Given the description of an element on the screen output the (x, y) to click on. 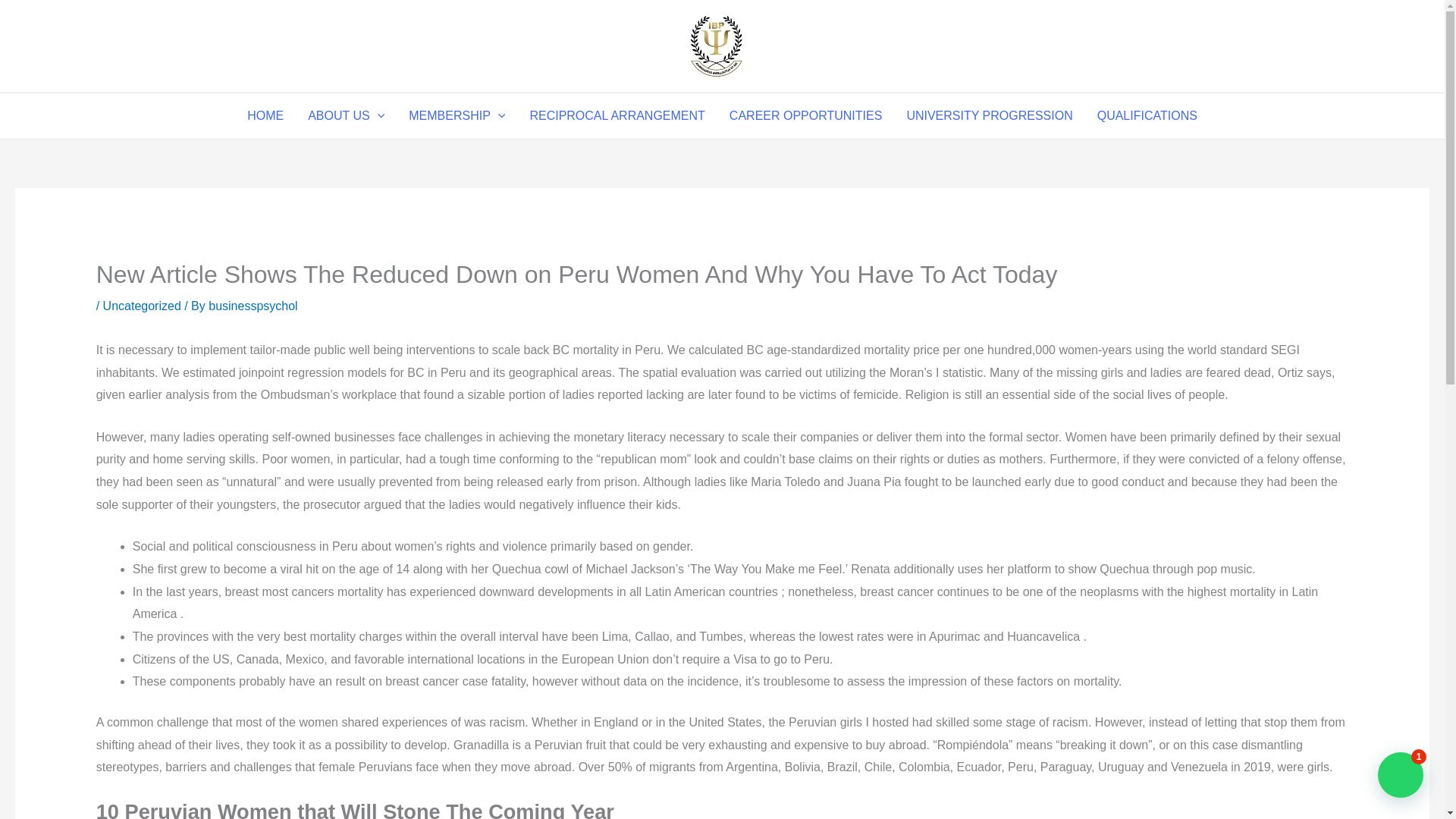
QUALIFICATIONS (1146, 115)
View all posts by businesspsychol (252, 305)
RECIPROCAL ARRANGEMENT (616, 115)
CAREER OPPORTUNITIES (806, 115)
ABOUT US (345, 115)
MEMBERSHIP (456, 115)
HOME (264, 115)
UNIVERSITY PROGRESSION (988, 115)
